Given the description of an element on the screen output the (x, y) to click on. 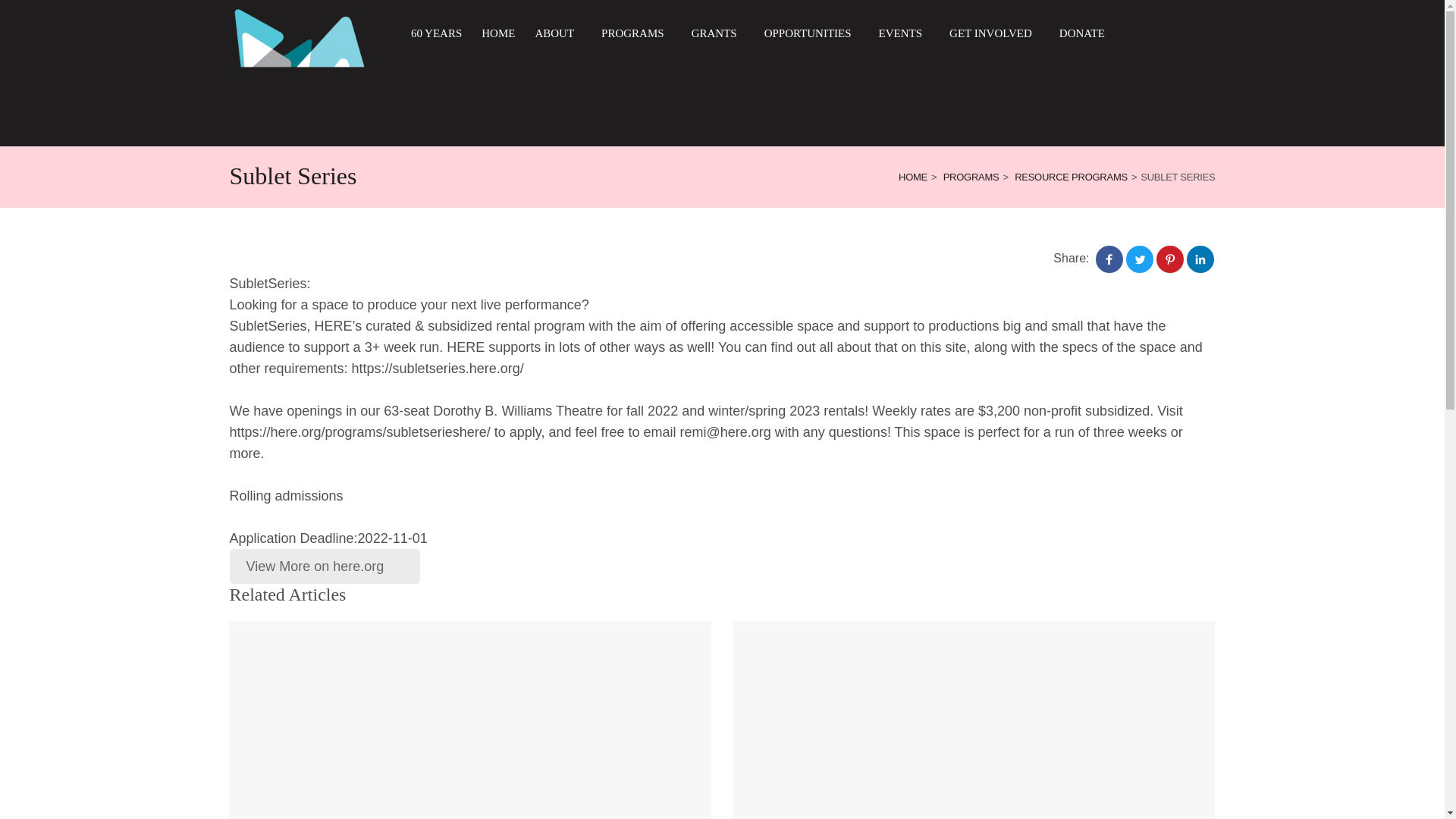
GRANTS (718, 33)
Pinterest (1169, 258)
PROGRAMS (636, 33)
OPPORTUNITIES (811, 33)
LinkedIn (1199, 258)
Twitter (1139, 258)
Facebook (1108, 258)
60 YEARS (435, 33)
